Given the description of an element on the screen output the (x, y) to click on. 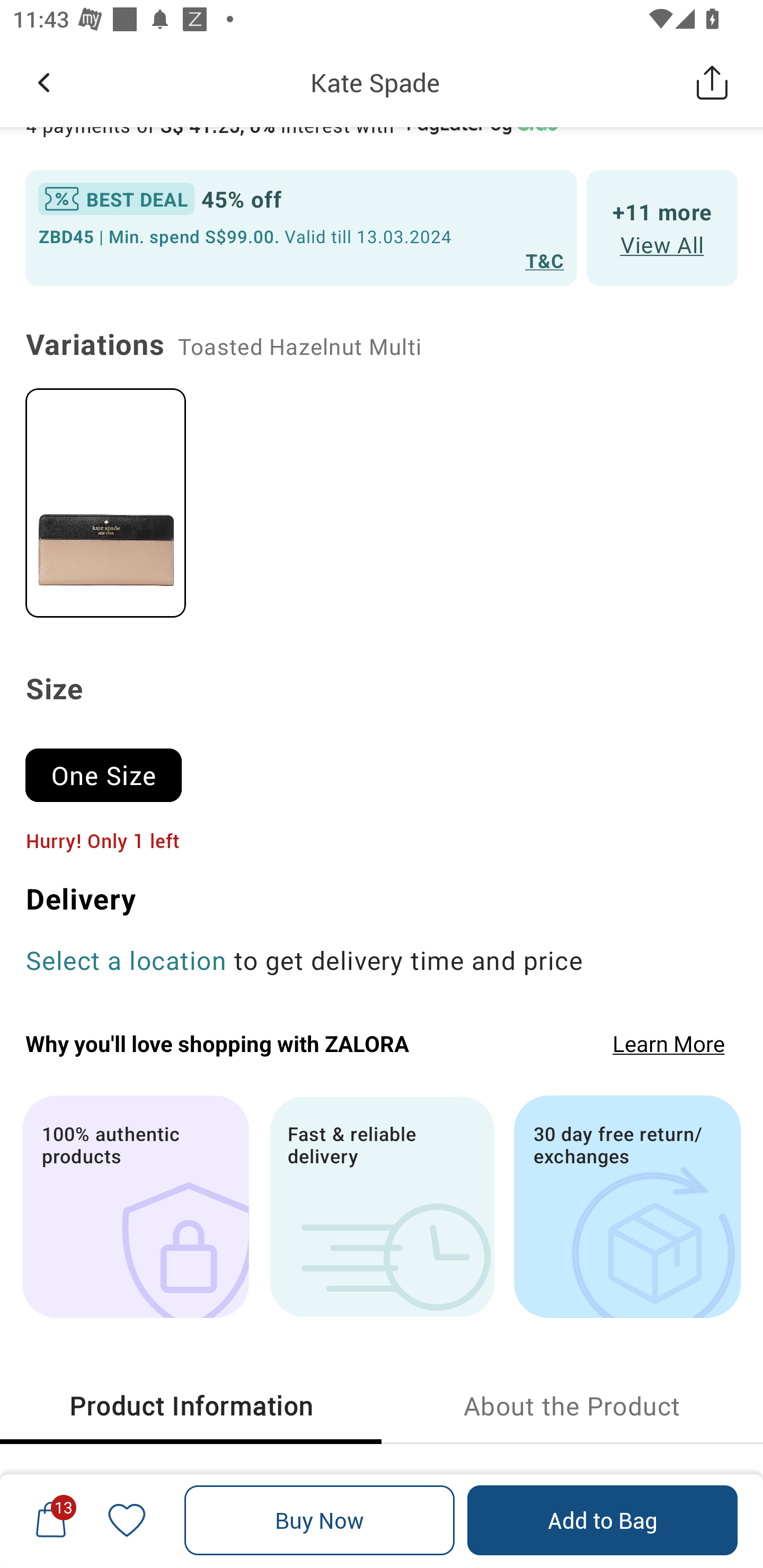
Kate Spade (375, 82)
Share this Product (711, 82)
+11 more
View All (661, 227)
T&C (544, 259)
One Size (111, 767)
Learn More (668, 1043)
100% authentic products (135, 1206)
Fast & reliable delivery (381, 1206)
30 day free return/exchanges (627, 1206)
About the Product (572, 1405)
Buy Now (319, 1519)
Add to Bag (601, 1519)
13 (50, 1520)
